Given the description of an element on the screen output the (x, y) to click on. 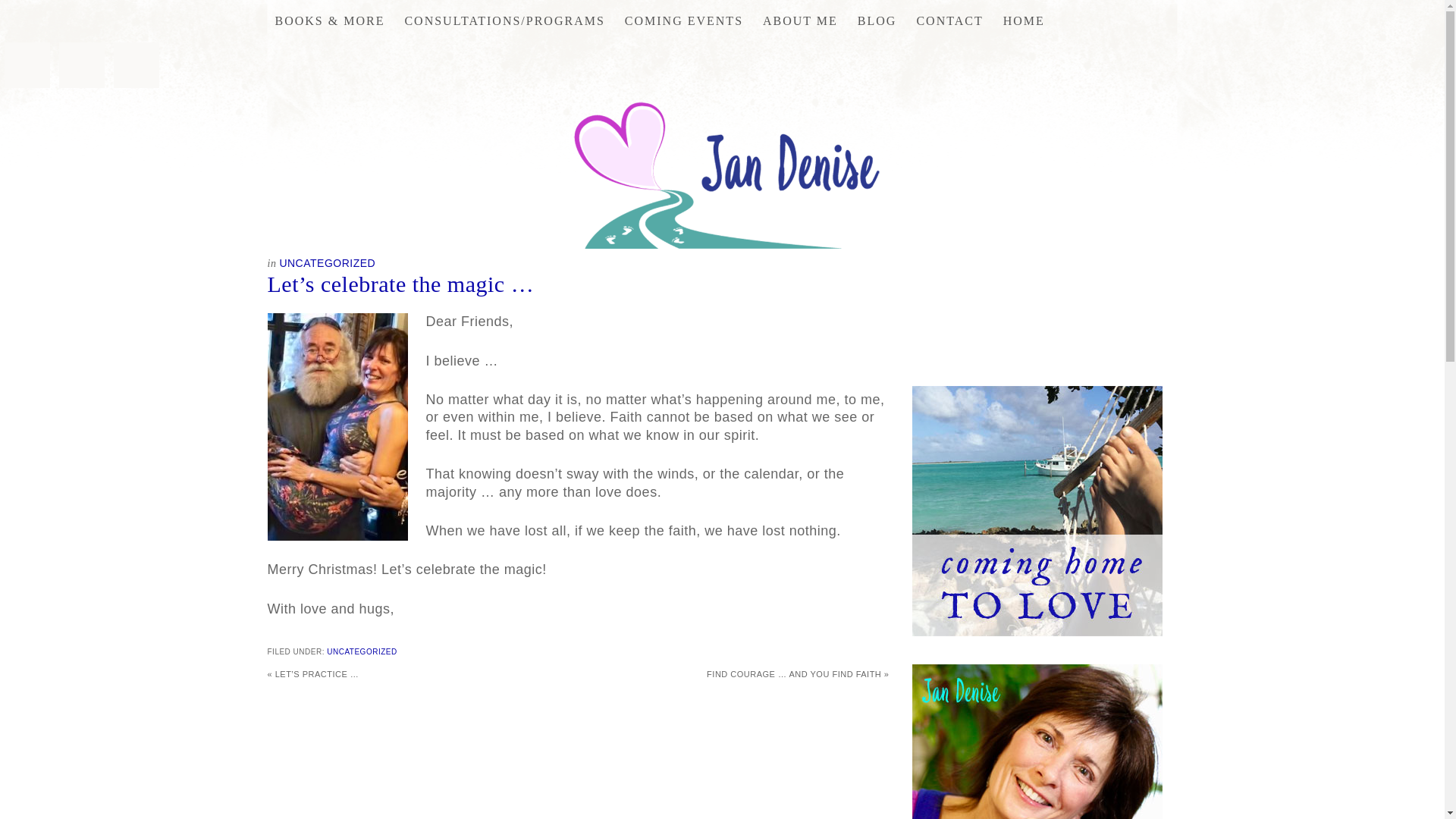
ABOUT ME (800, 21)
HOME (1023, 21)
BLOG (877, 21)
CONTACT (949, 21)
COMING EVENTS (684, 21)
UNCATEGORIZED (361, 651)
UNCATEGORIZED (327, 263)
